Given the description of an element on the screen output the (x, y) to click on. 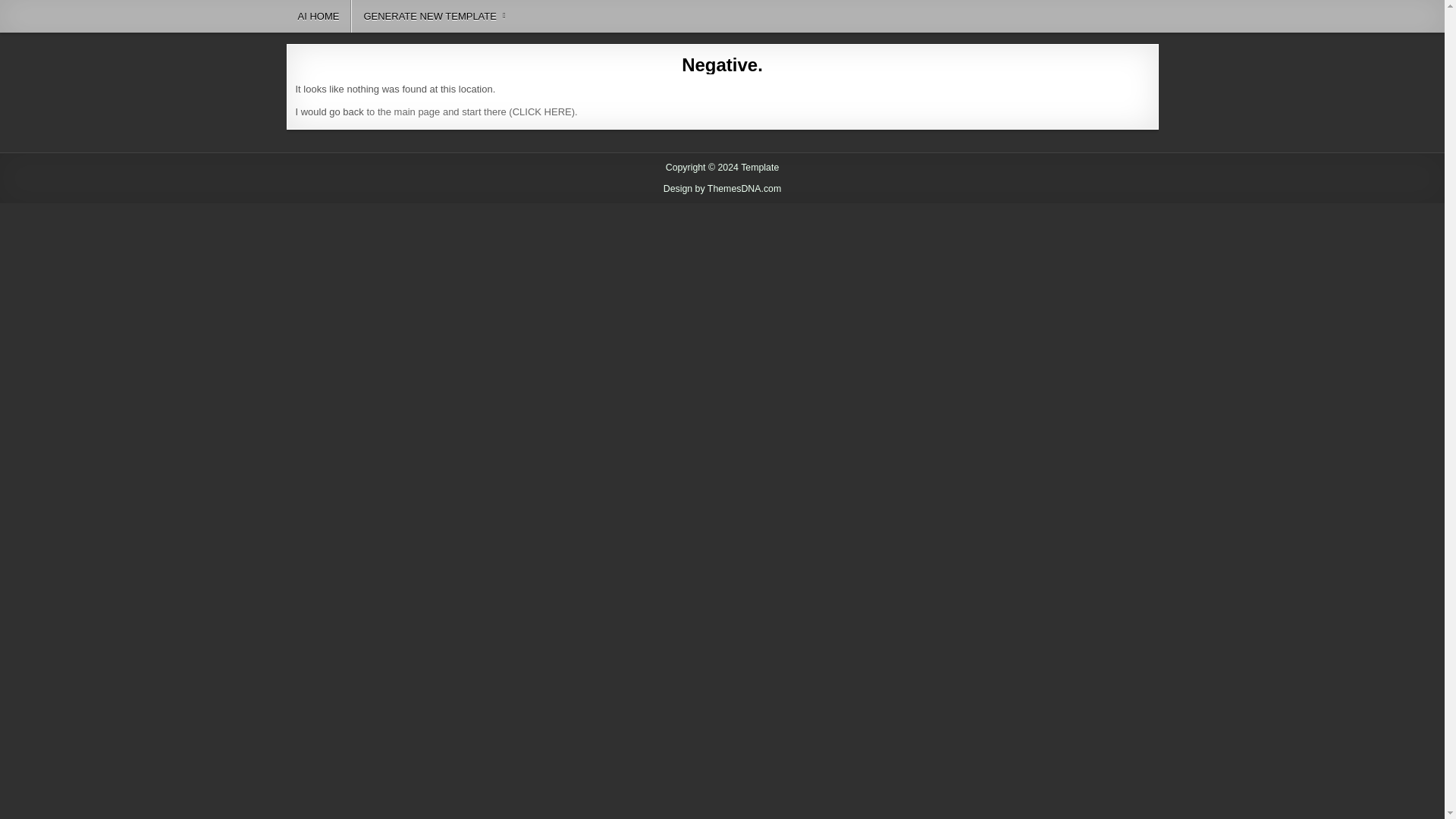
AI HOME (319, 16)
Design by ThemesDNA.com (722, 188)
GENERATE NEW TEMPLATE (433, 16)
